Given the description of an element on the screen output the (x, y) to click on. 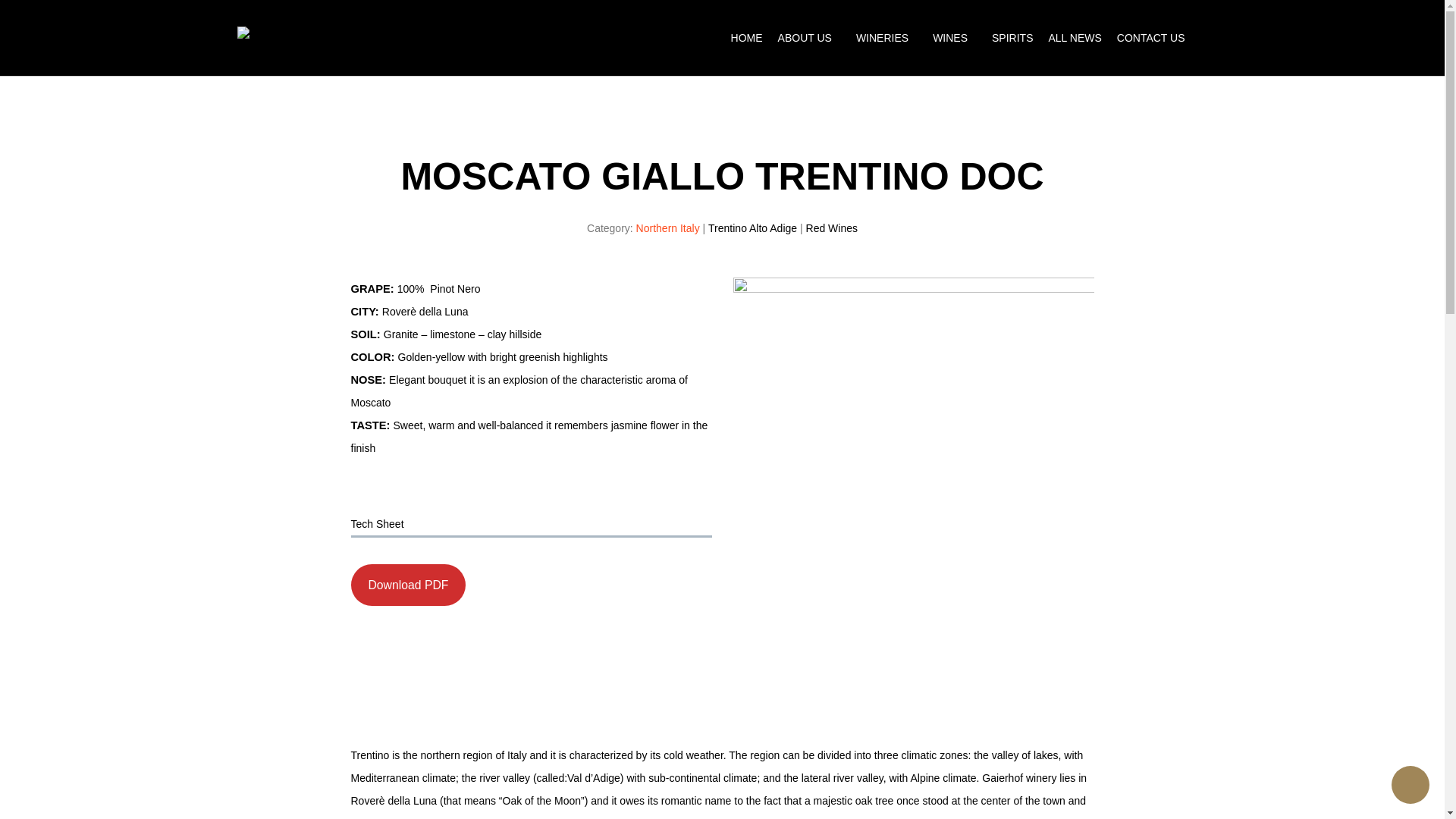
WINERIES (886, 37)
WINES (954, 37)
ABOUT US (809, 37)
HOME (746, 37)
